Given the description of an element on the screen output the (x, y) to click on. 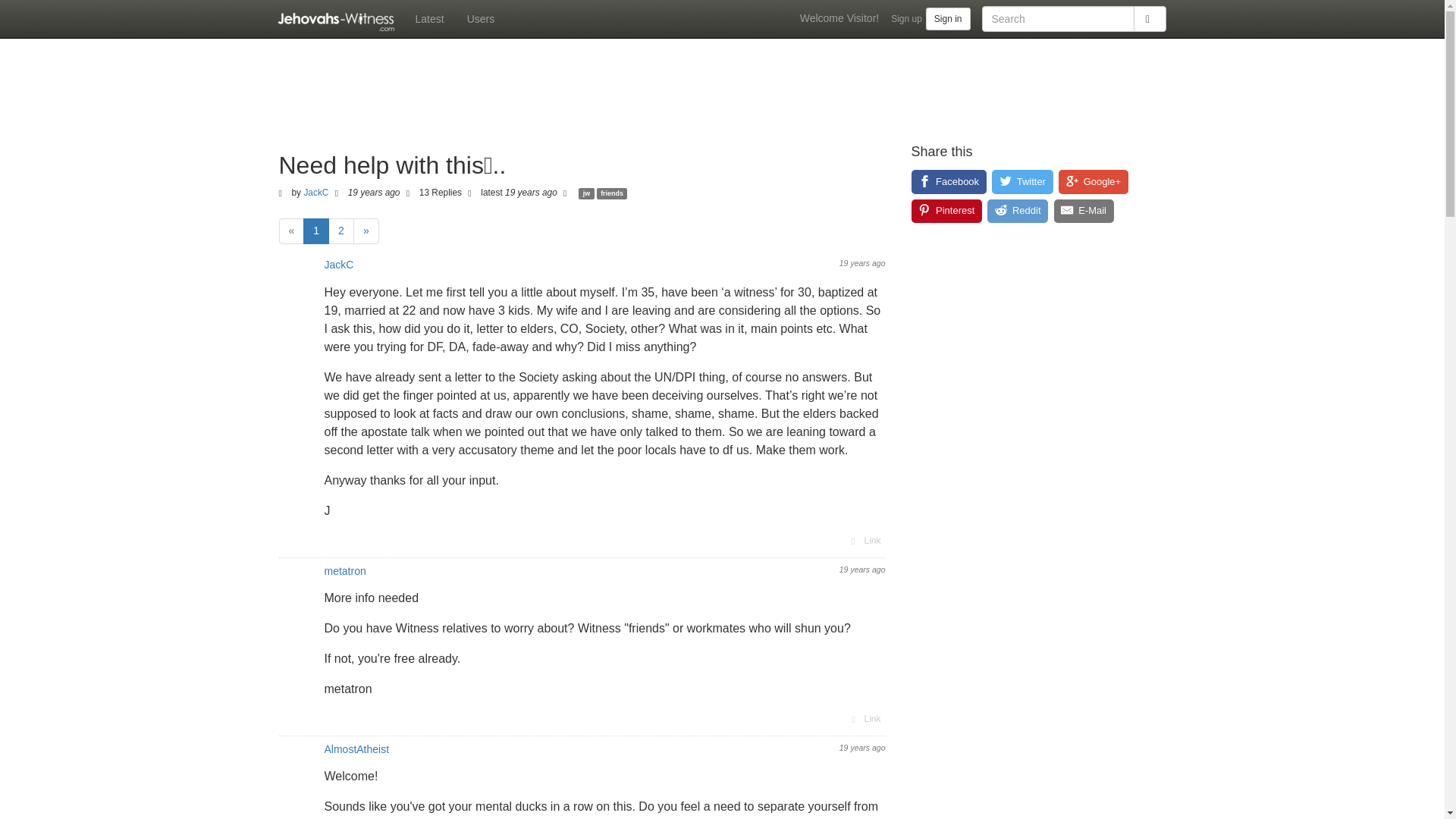
Fri, Dec 23 2005, 04:58:00 (862, 747)
Fri, Dec 23 2005, 04:47:00 (862, 262)
Link (864, 540)
AlmostAtheist (357, 748)
JackC (315, 192)
Link (864, 718)
next (365, 231)
Latest (428, 18)
Page 1 (315, 231)
Sign in (948, 18)
